Given the description of an element on the screen output the (x, y) to click on. 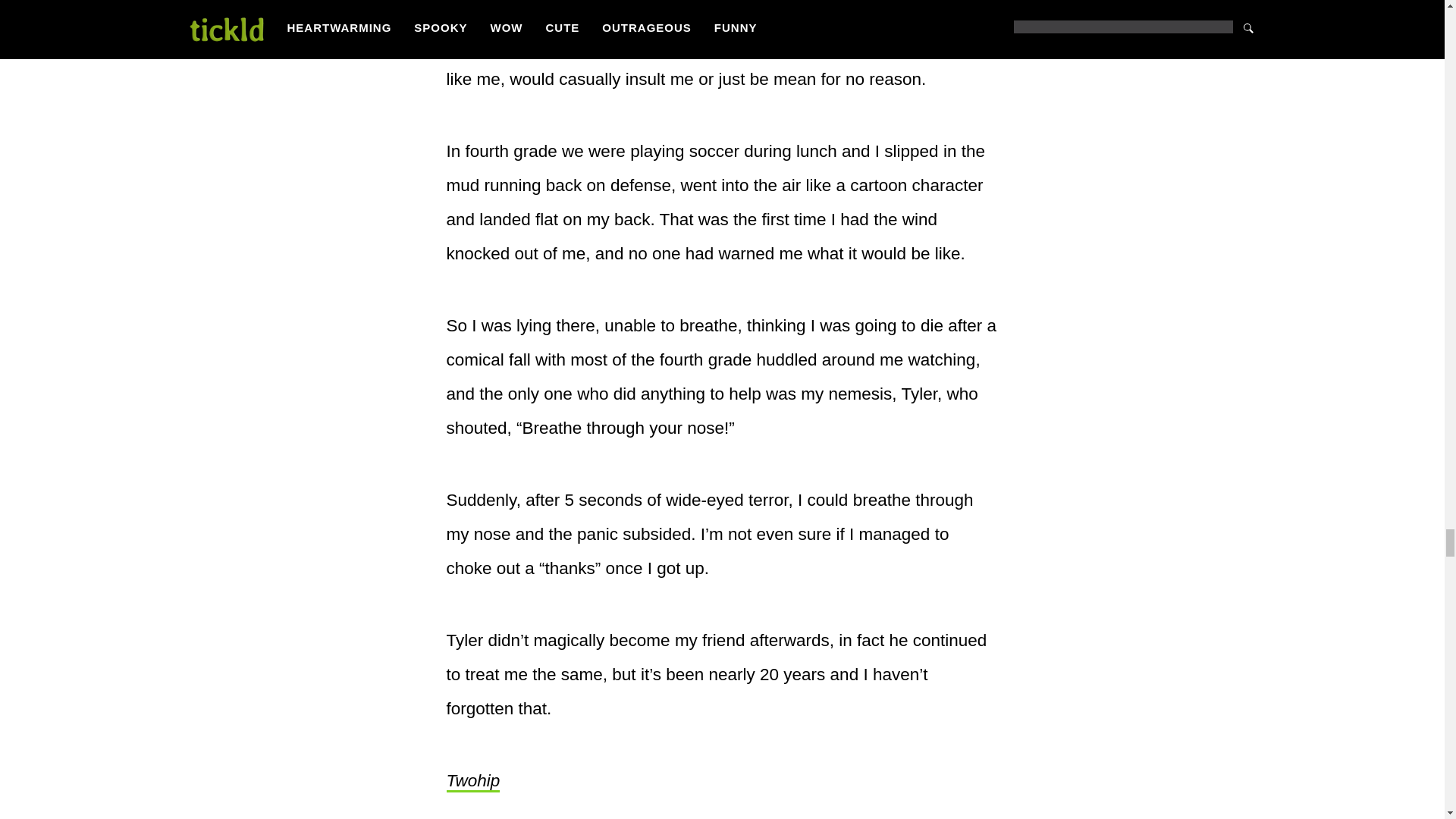
Twohip (472, 781)
